Given the description of an element on the screen output the (x, y) to click on. 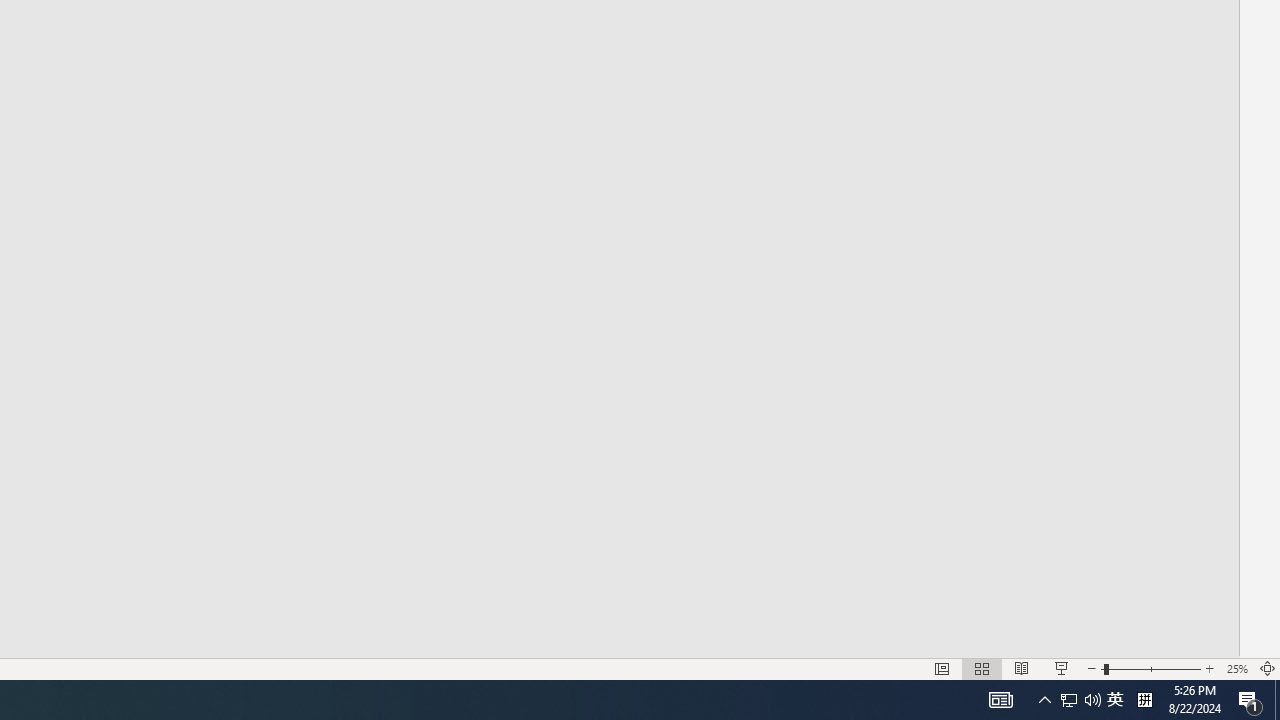
Zoom 25% (1236, 668)
